Given the description of an element on the screen output the (x, y) to click on. 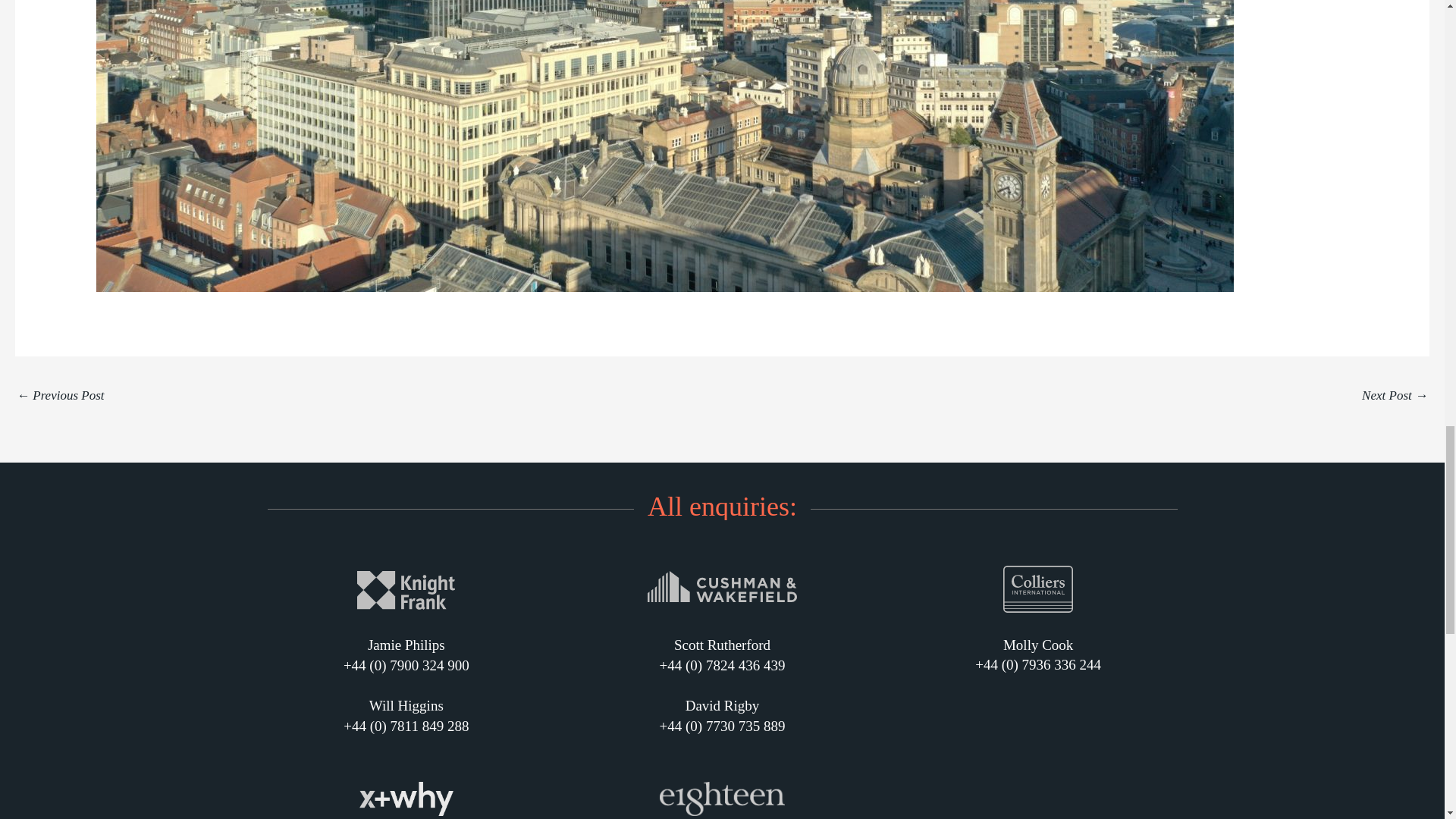
Knight Frank takes space at 103 Colmore Row (1394, 397)
